Given the description of an element on the screen output the (x, y) to click on. 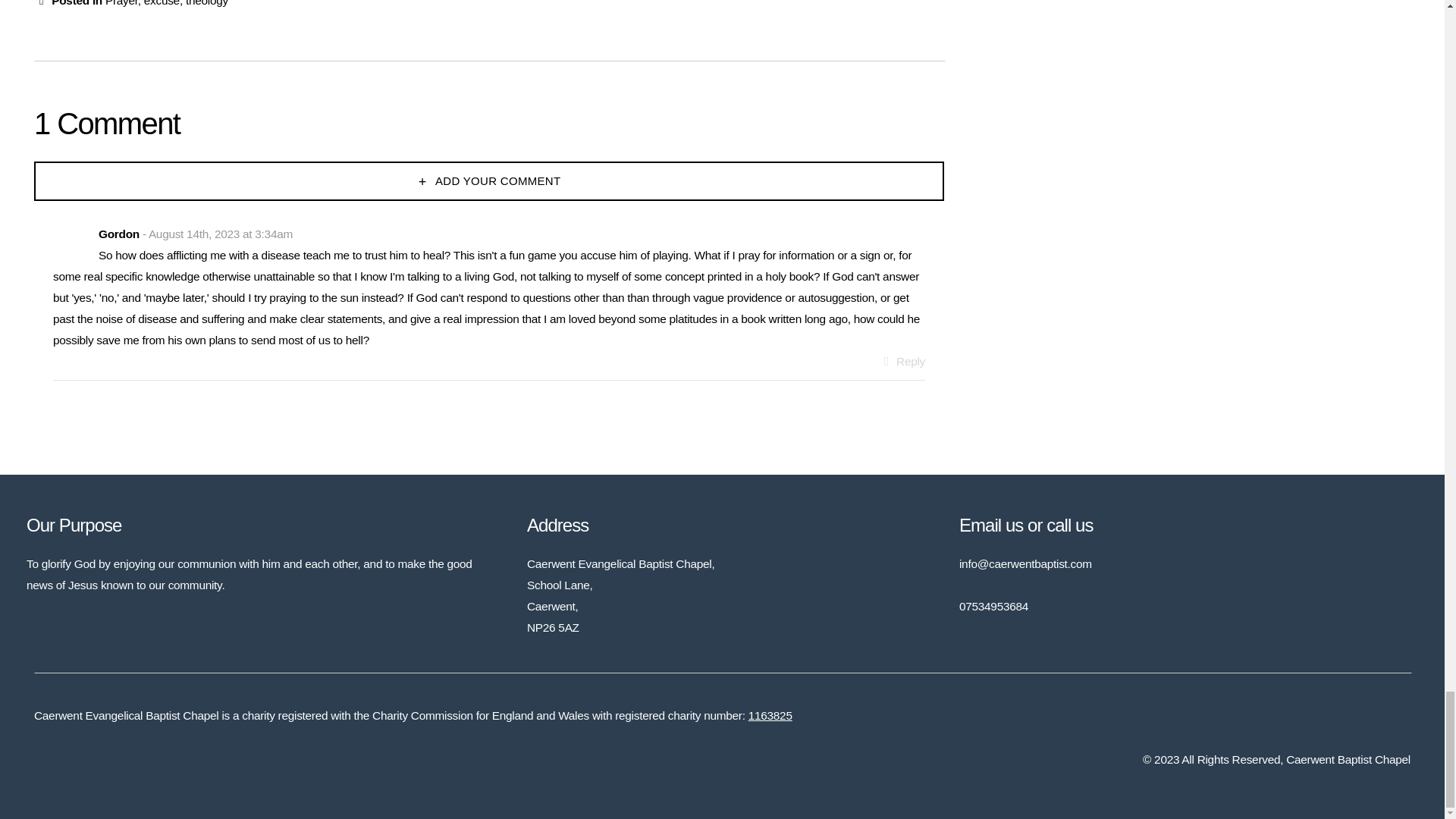
Reply (901, 360)
Prayer (121, 3)
ADD YOUR COMMENT (488, 180)
excuse (161, 3)
theology (207, 3)
